Given the description of an element on the screen output the (x, y) to click on. 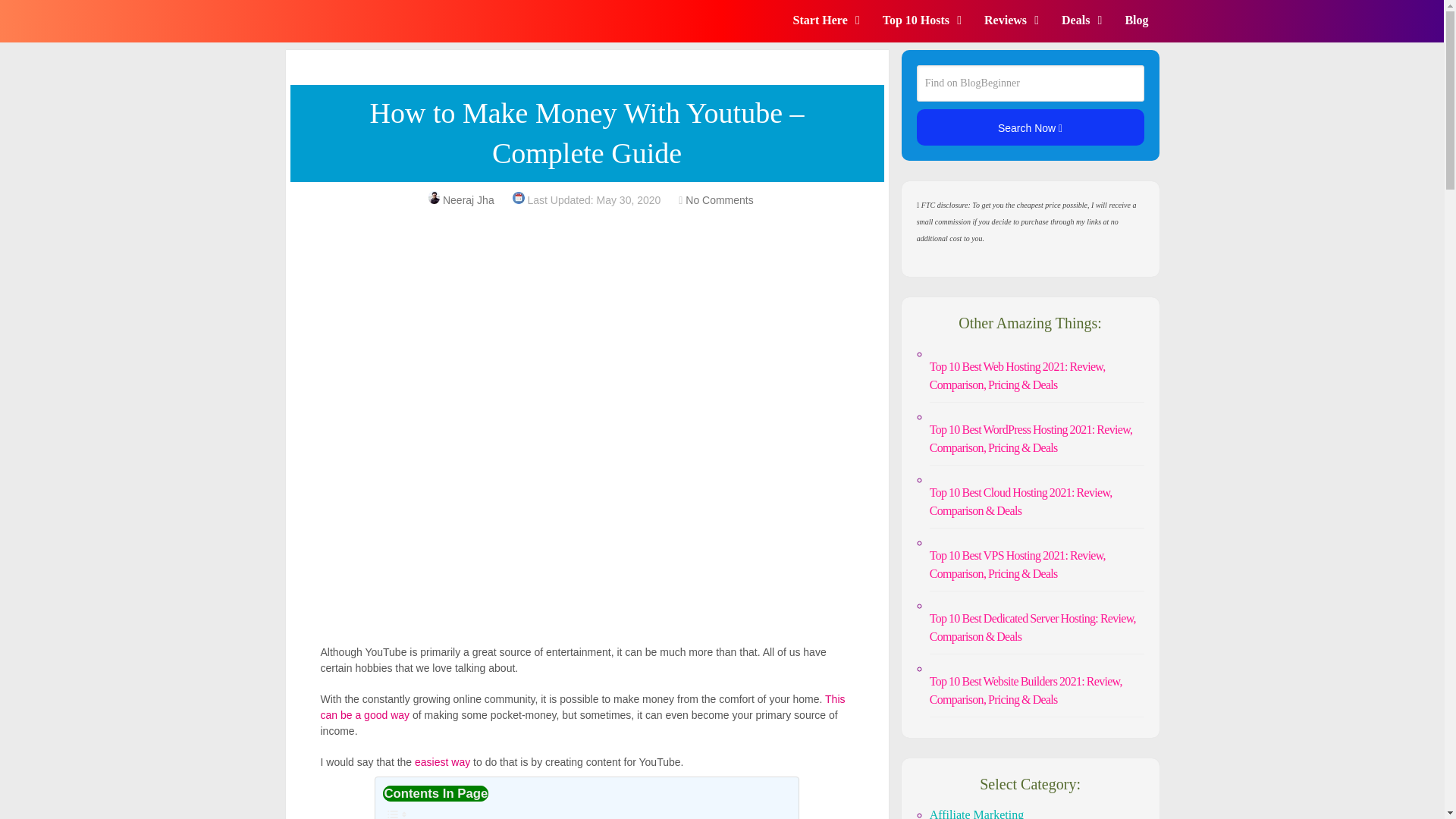
Blog (1137, 14)
Posts by Neeraj Jha (468, 200)
No Comments (718, 200)
Neeraj Jha (468, 200)
Deals (1086, 14)
The Ultimate Managed Hosting Platform (586, 264)
Top 10 Hosts (927, 14)
Start Here (831, 14)
easiest way (442, 761)
Reviews (1016, 14)
